Given the description of an element on the screen output the (x, y) to click on. 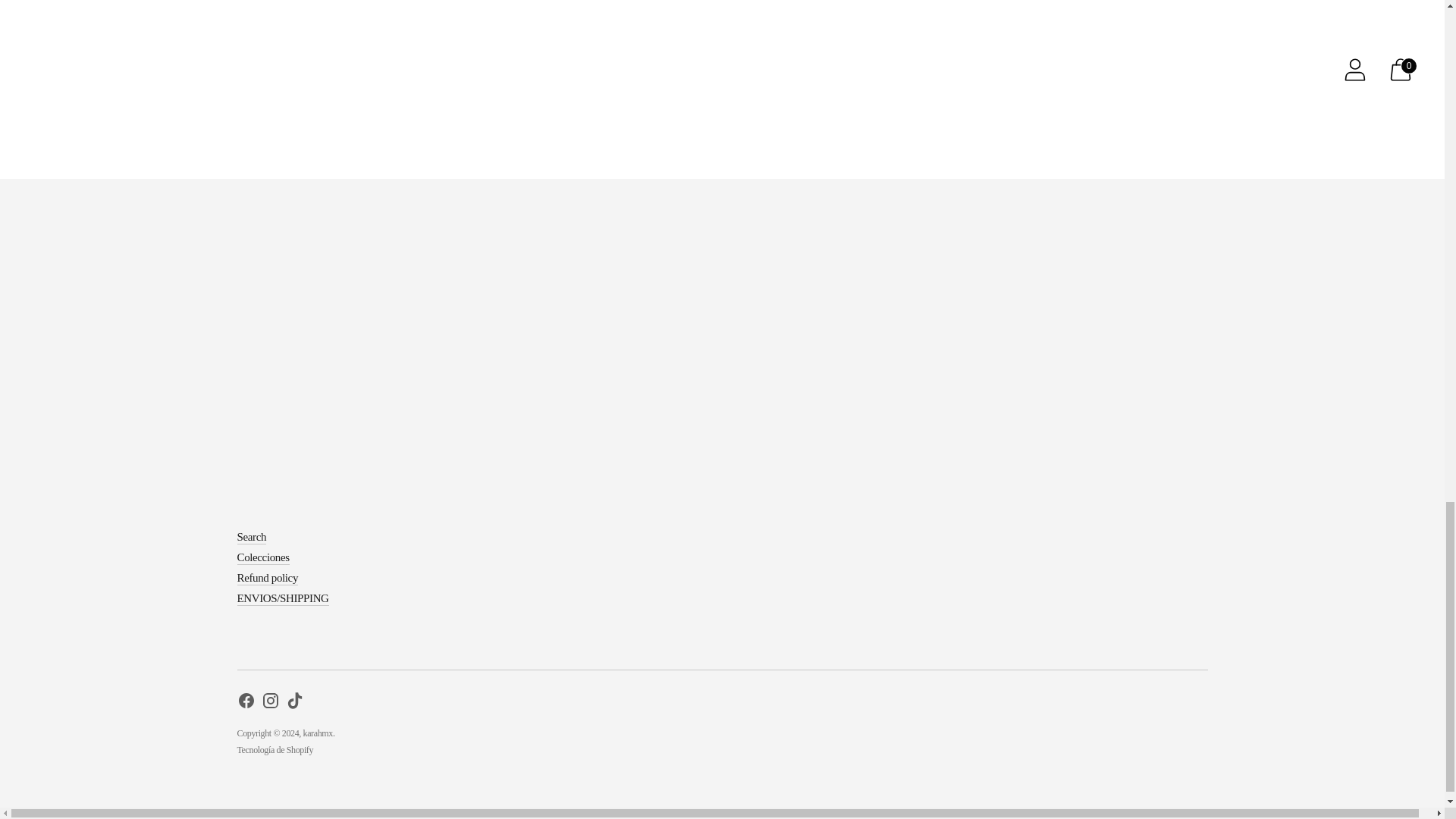
karahmx en Facebook (244, 702)
karahmx en Instagram (269, 702)
karahmx en Tiktok (293, 702)
